Given the description of an element on the screen output the (x, y) to click on. 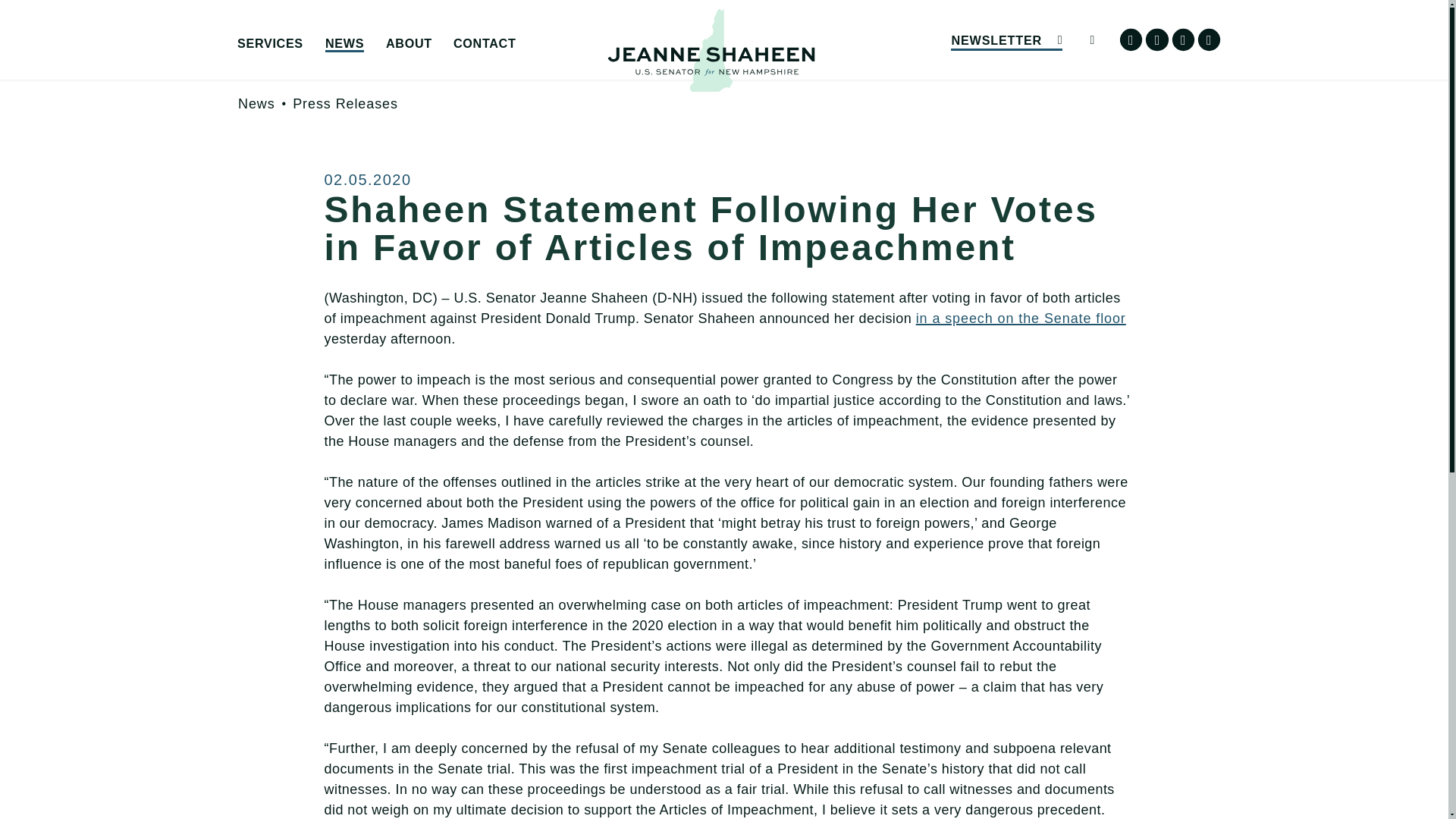
Skip to content (26, 26)
News (256, 103)
Contact Jeanne (566, 66)
CONTACT (483, 44)
ABOUT (408, 44)
Biography (498, 66)
SERVICES (269, 44)
NEWSLETTER (1006, 39)
NEWS (344, 44)
Press Releases (344, 103)
Help With A Federal Agency (350, 66)
Congressionally Directed Spending Requests (350, 73)
Press Releases (438, 66)
